Given the description of an element on the screen output the (x, y) to click on. 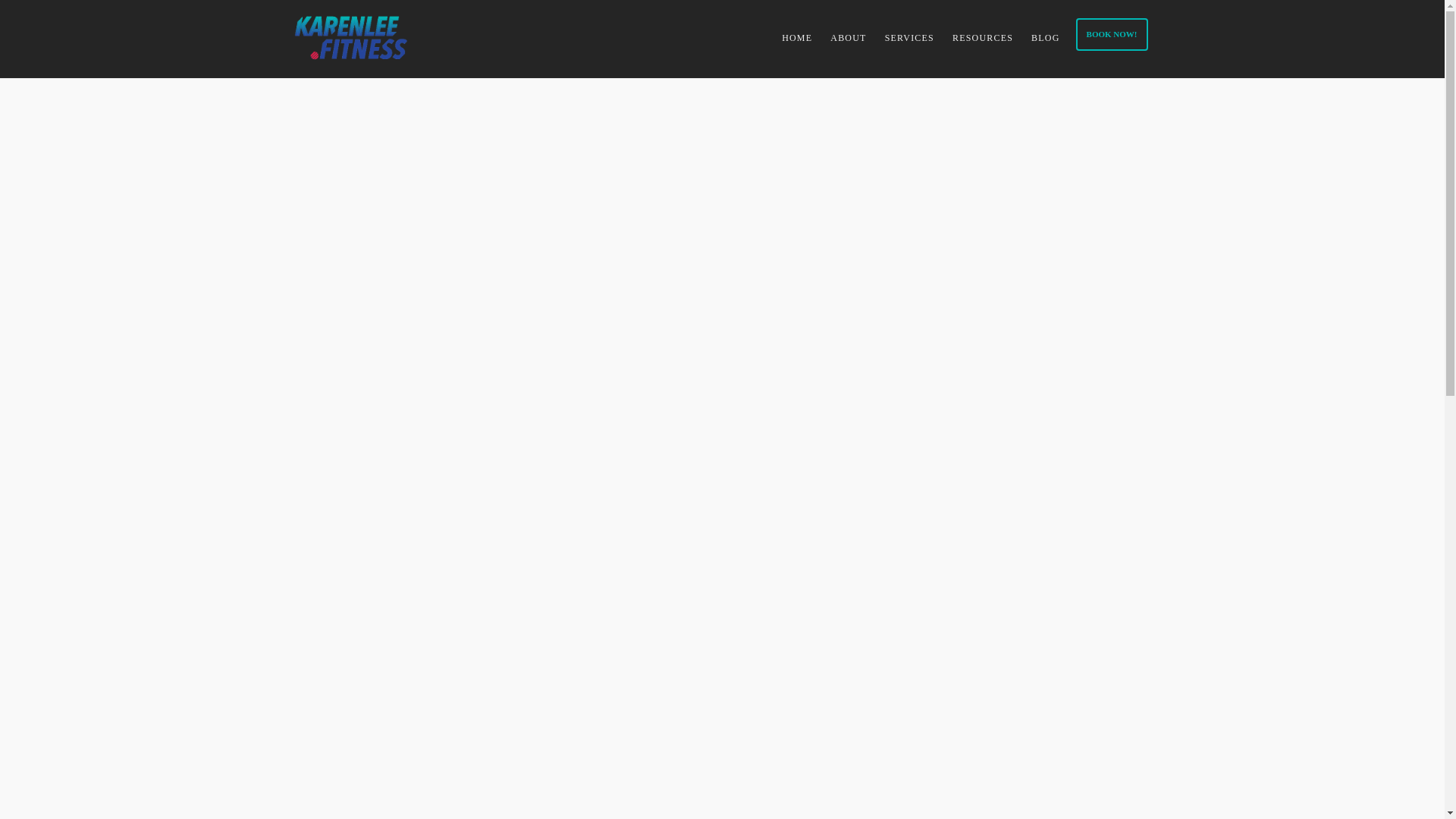
Book Now! (1111, 34)
BOOK NOW! (1111, 34)
Resources (982, 38)
RESOURCES (982, 38)
